Given the description of an element on the screen output the (x, y) to click on. 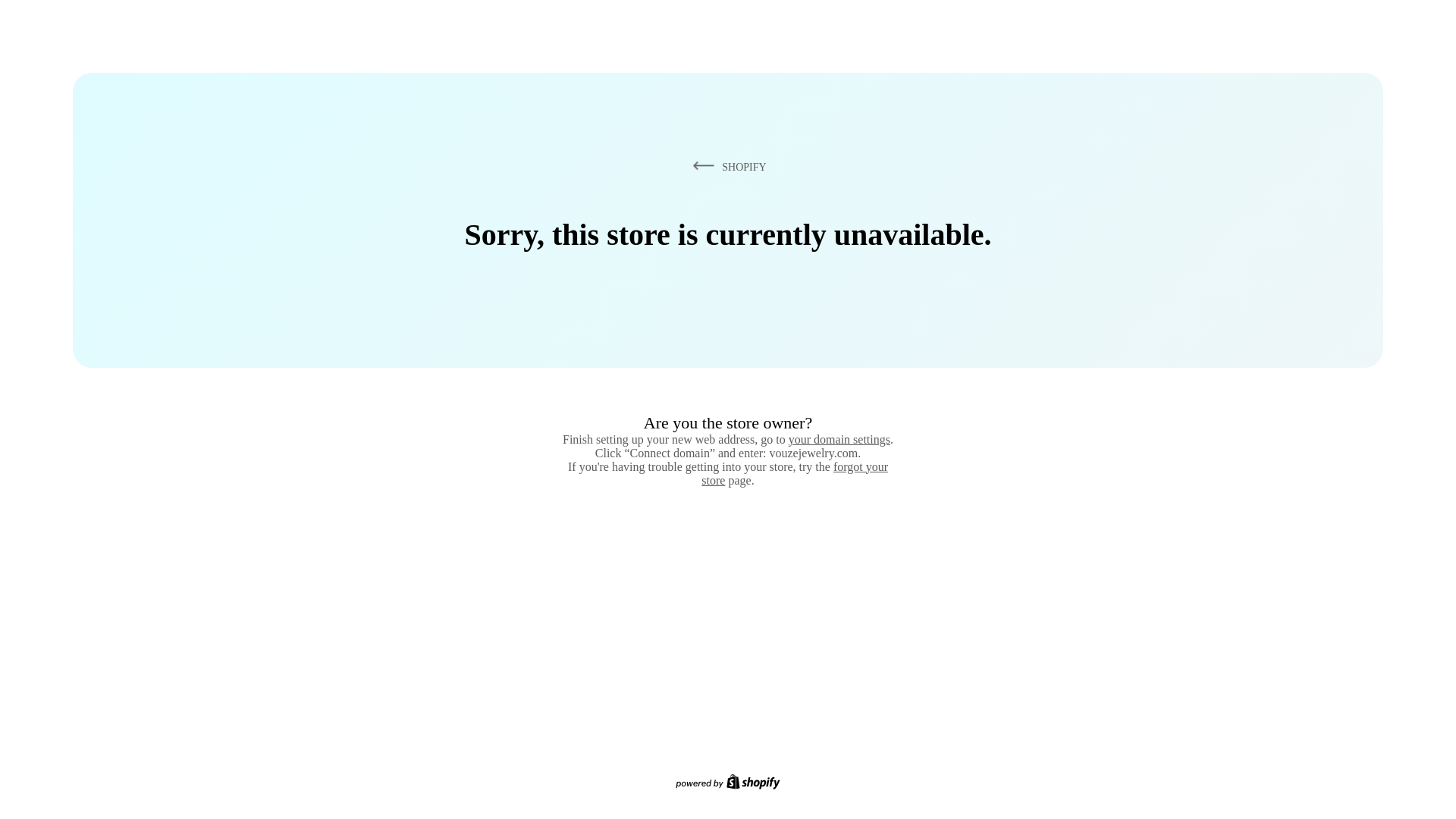
SHOPIFY (726, 166)
forgot your store (794, 473)
your domain settings (839, 439)
